Given the description of an element on the screen output the (x, y) to click on. 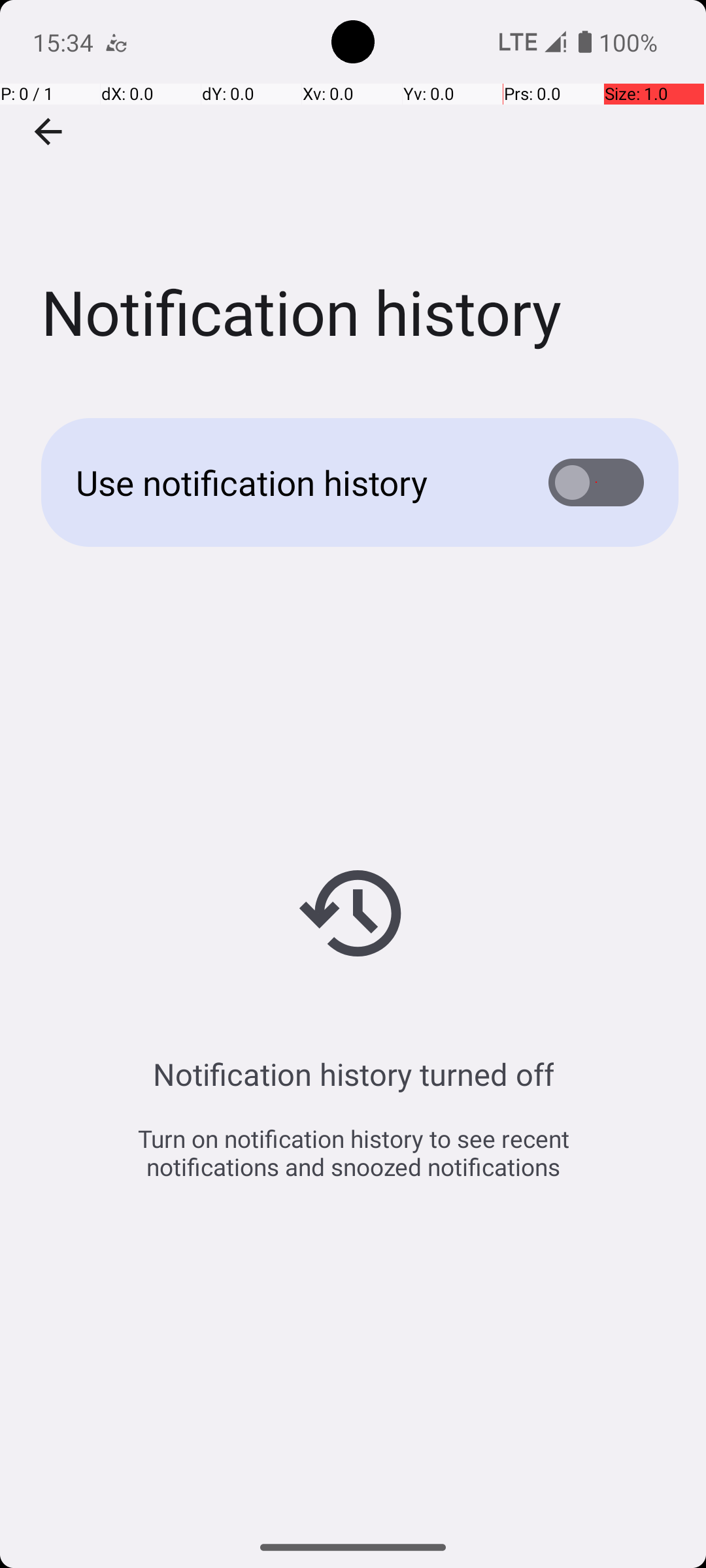
Notification history turned off Element type: android.widget.TextView (352, 1073)
Turn on notification history to see recent notifications and snoozed notifications Element type: android.widget.TextView (352, 1152)
